Given the description of an element on the screen output the (x, y) to click on. 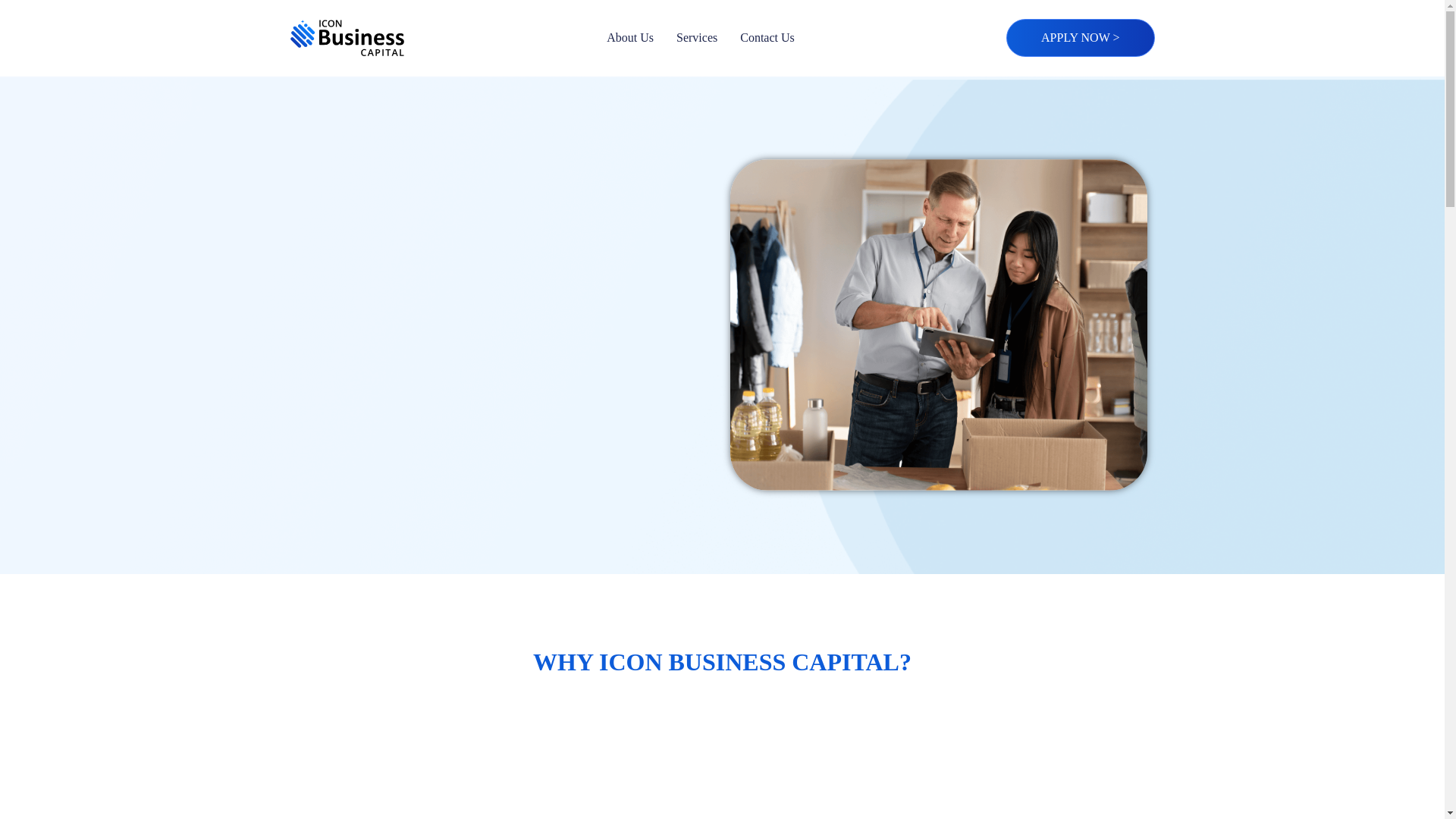
About Us (630, 37)
Services (697, 37)
Contact Us (766, 37)
